Given the description of an element on the screen output the (x, y) to click on. 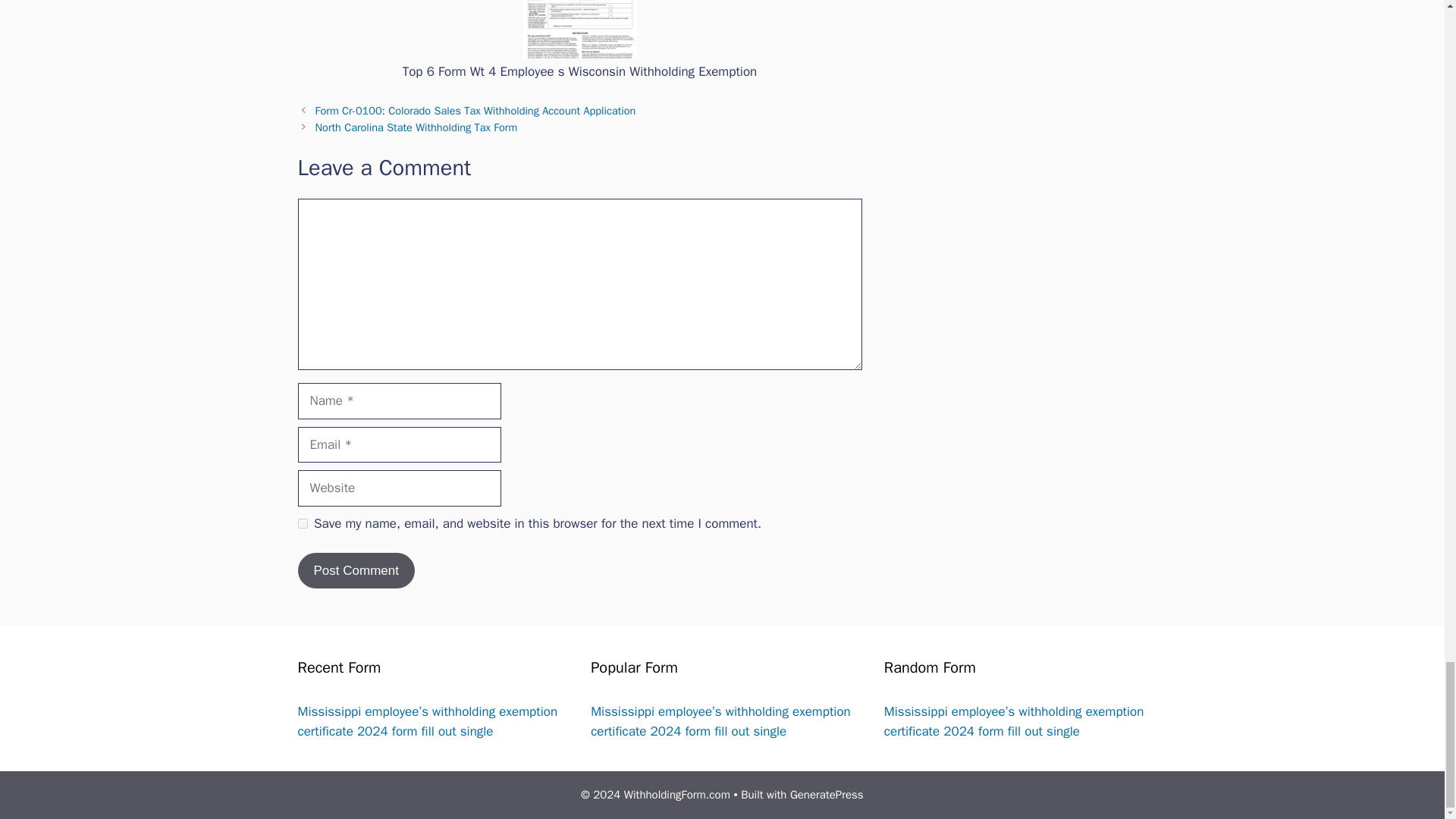
yes (302, 523)
Post Comment (355, 570)
North Carolina State Withholding Tax Form (416, 127)
Post Comment (355, 570)
GeneratePress (826, 794)
